Given the description of an element on the screen output the (x, y) to click on. 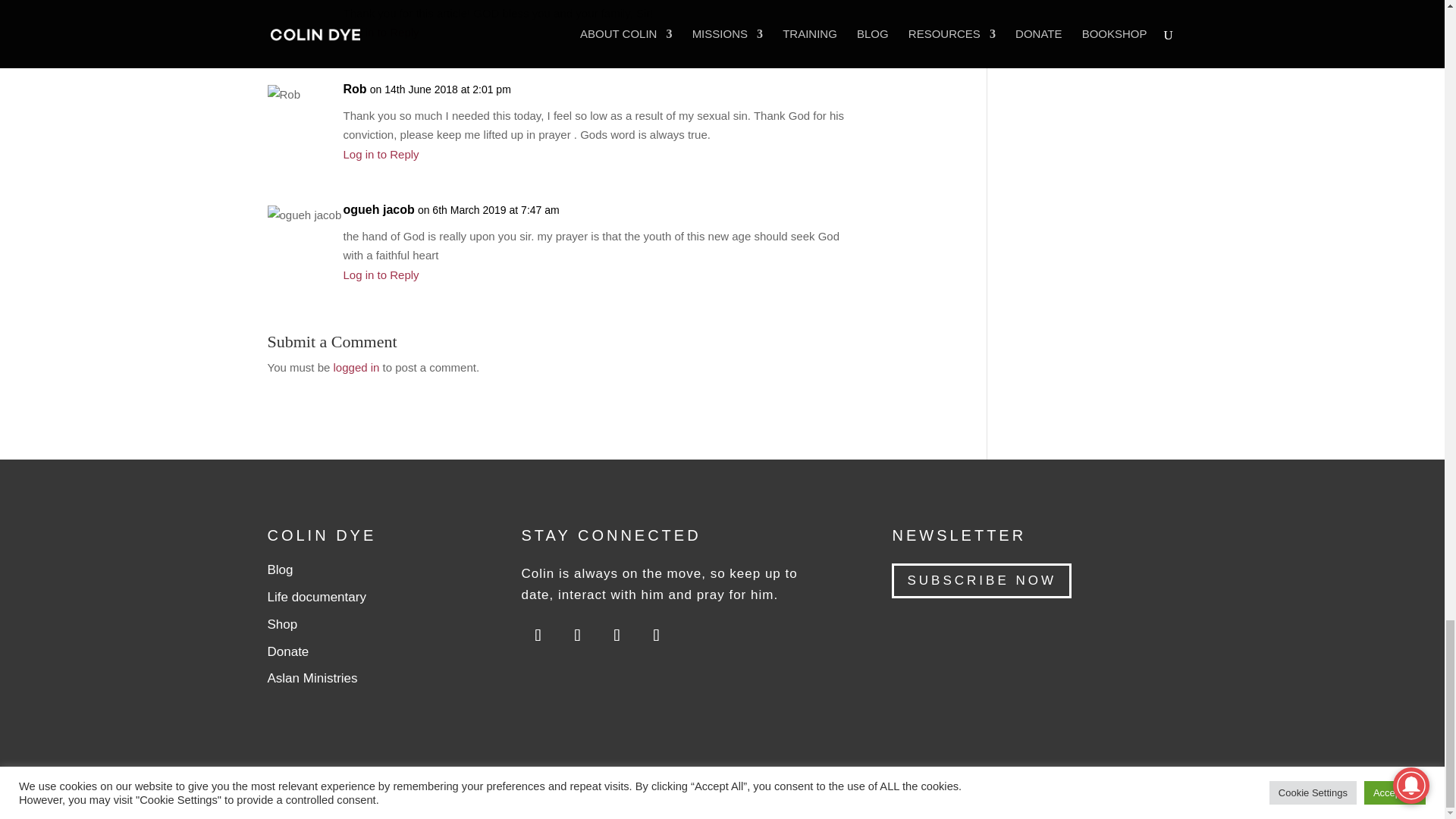
Follow on Instagram (577, 635)
Follow on Facebook (655, 635)
Follow on Youtube (537, 635)
Follow on X (616, 635)
